Given the description of an element on the screen output the (x, y) to click on. 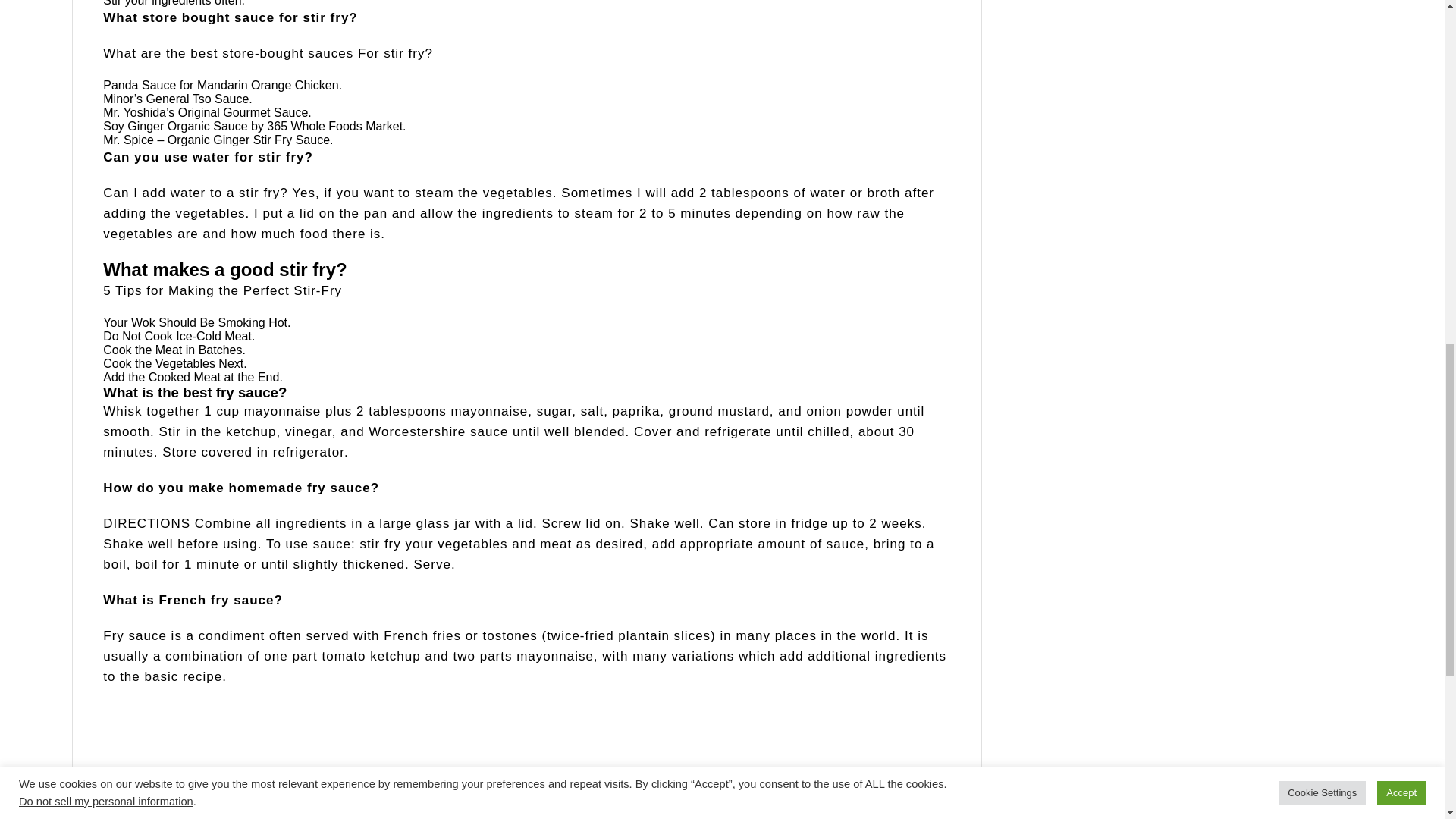
delicious all-purpose stir fry sauce you need to try asap (292, 760)
